Given the description of an element on the screen output the (x, y) to click on. 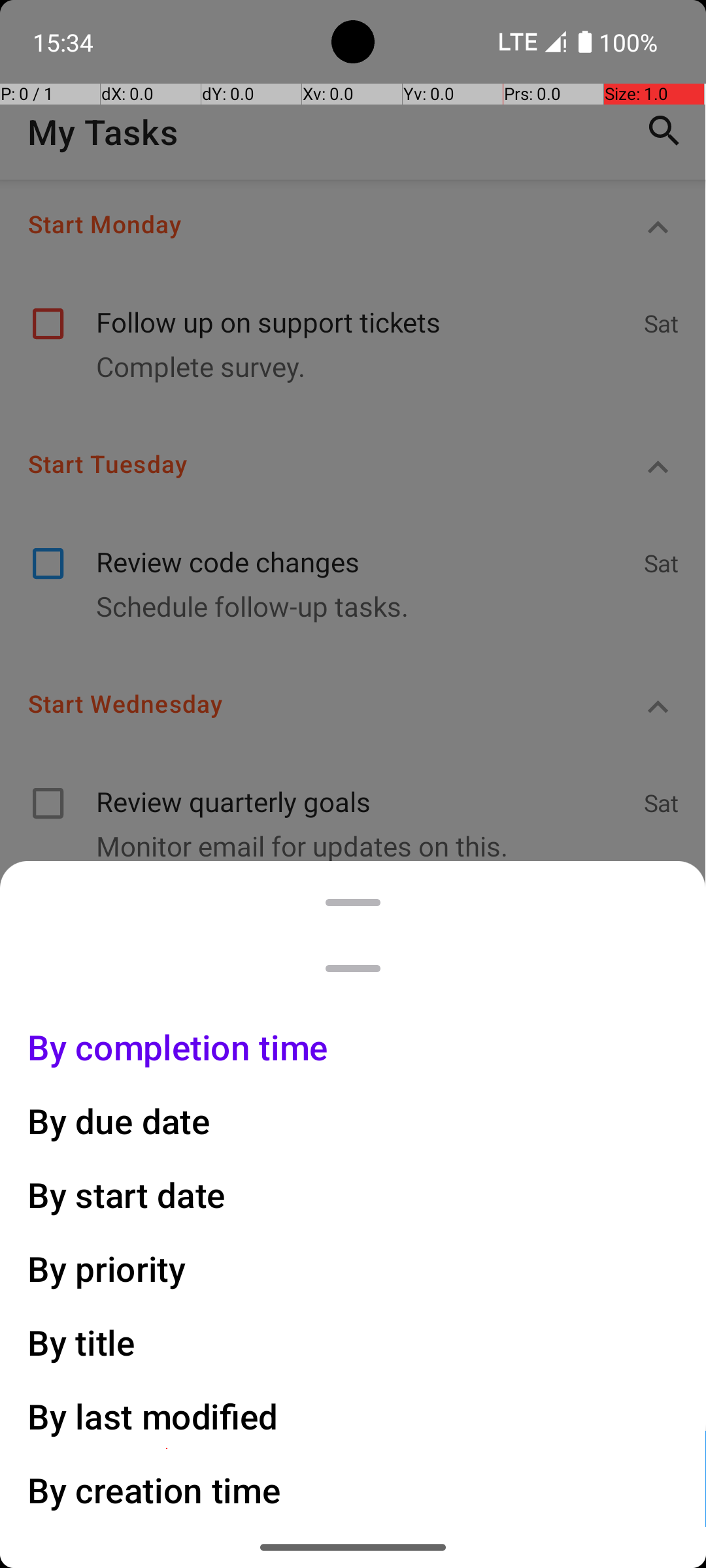
By completion time Element type: android.widget.TextView (177, 1046)
By due date Element type: android.widget.TextView (119, 1120)
By start date Element type: android.widget.TextView (126, 1194)
By priority Element type: android.widget.TextView (106, 1268)
By title Element type: android.widget.TextView (81, 1342)
By last modified Element type: android.widget.TextView (152, 1415)
By creation time Element type: android.widget.TextView (154, 1489)
